Given the description of an element on the screen output the (x, y) to click on. 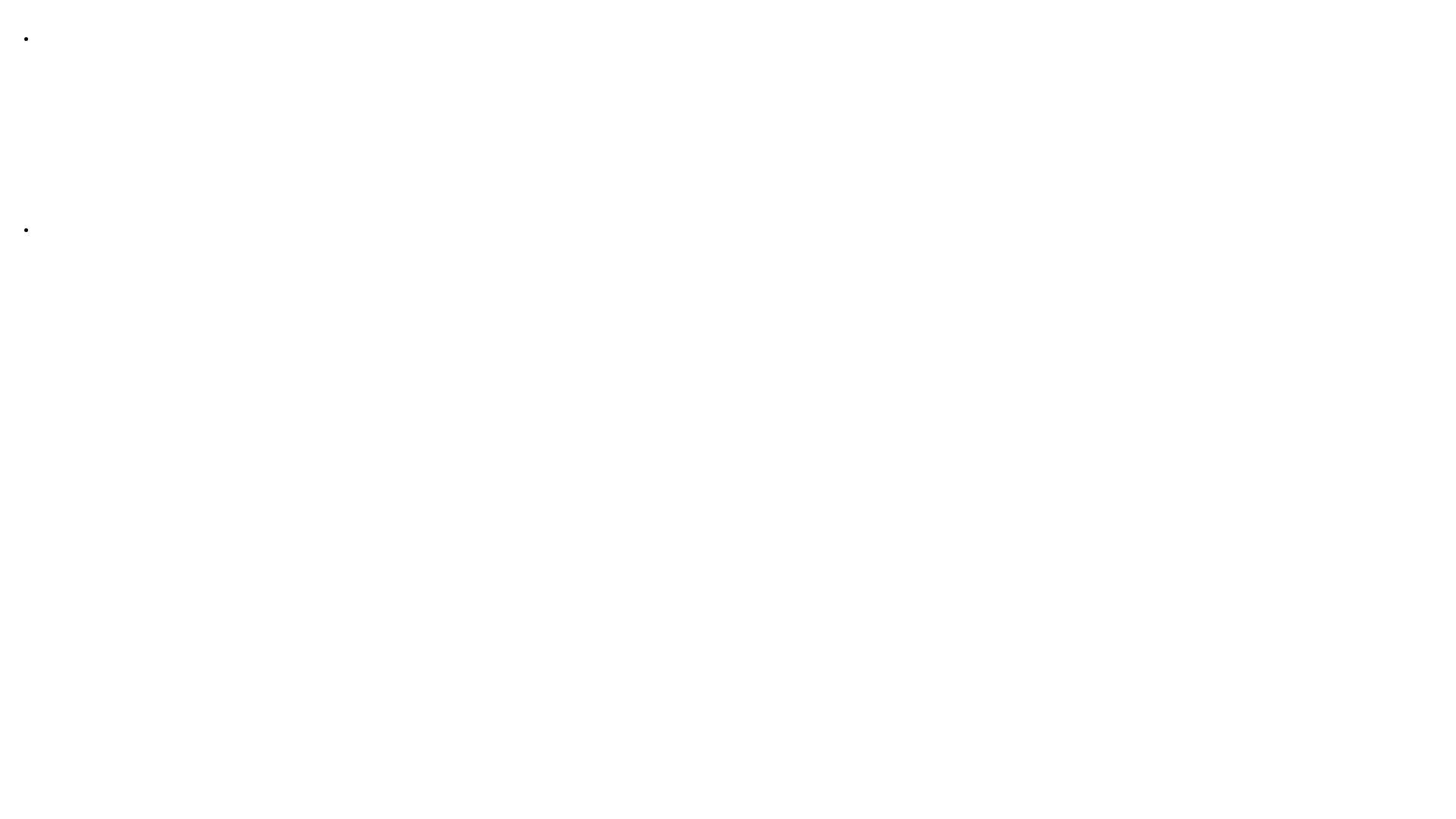
Home Element type: text (50, 38)
